Given the description of an element on the screen output the (x, y) to click on. 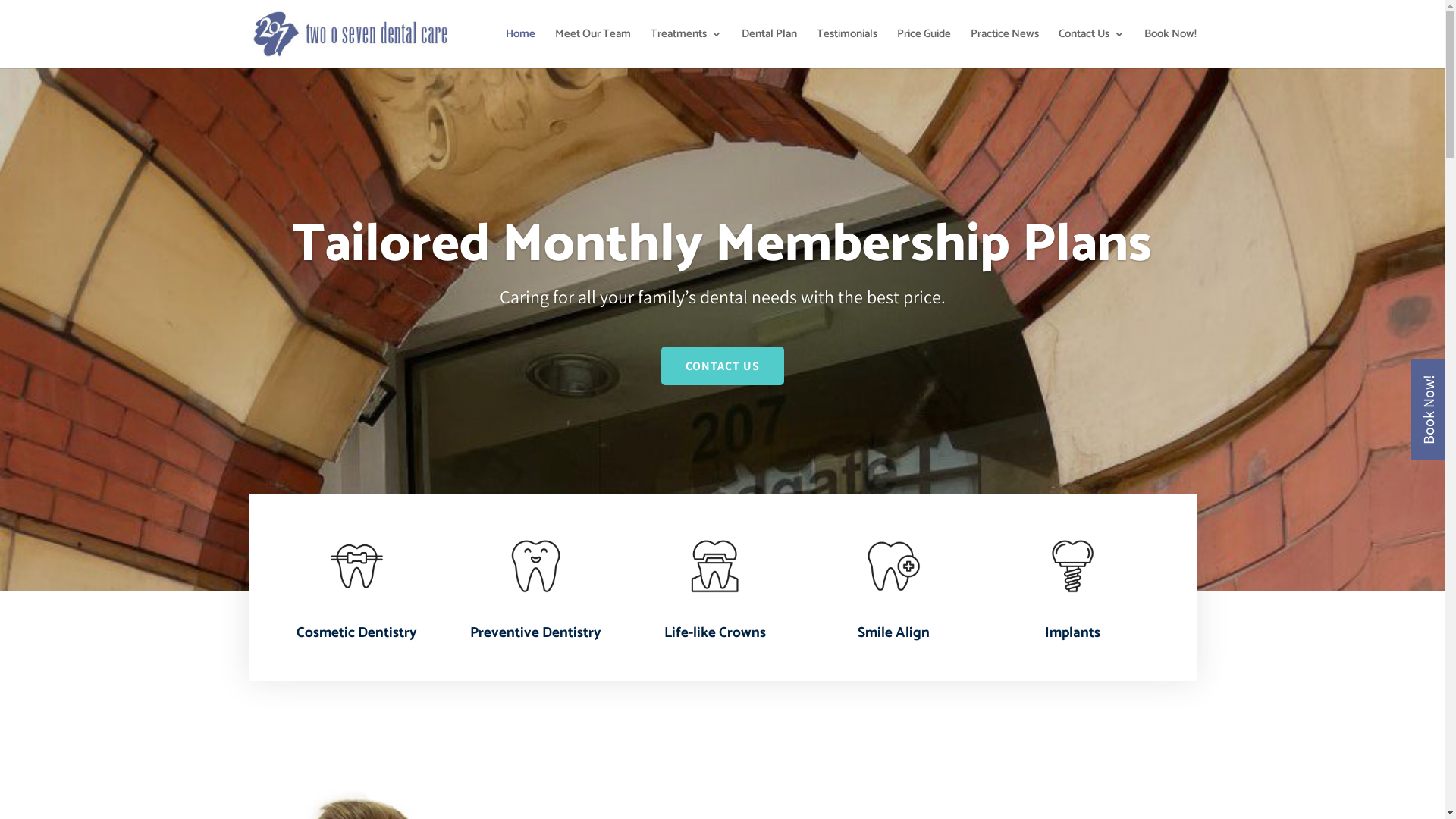
10738 - Healthy Smile Element type: hover (535, 565)
Tailored Monthly Membership Plans Element type: text (721, 276)
Dental Plan Element type: text (769, 48)
Testimonials Element type: text (845, 48)
Price Guide Element type: text (923, 48)
Practice News Element type: text (1004, 48)
10720 - Dental Care Element type: hover (893, 565)
10725 - Dental Crown Element type: hover (714, 565)
10727 - Dental Implants Element type: hover (1072, 565)
Book Now! Element type: text (1169, 48)
Contact Us Element type: text (1091, 48)
CONTACT US Element type: text (722, 393)
Home Element type: text (519, 48)
10713 - Braces Element type: hover (356, 565)
Meet Our Team Element type: text (592, 48)
Treatments Element type: text (685, 48)
